Given the description of an element on the screen output the (x, y) to click on. 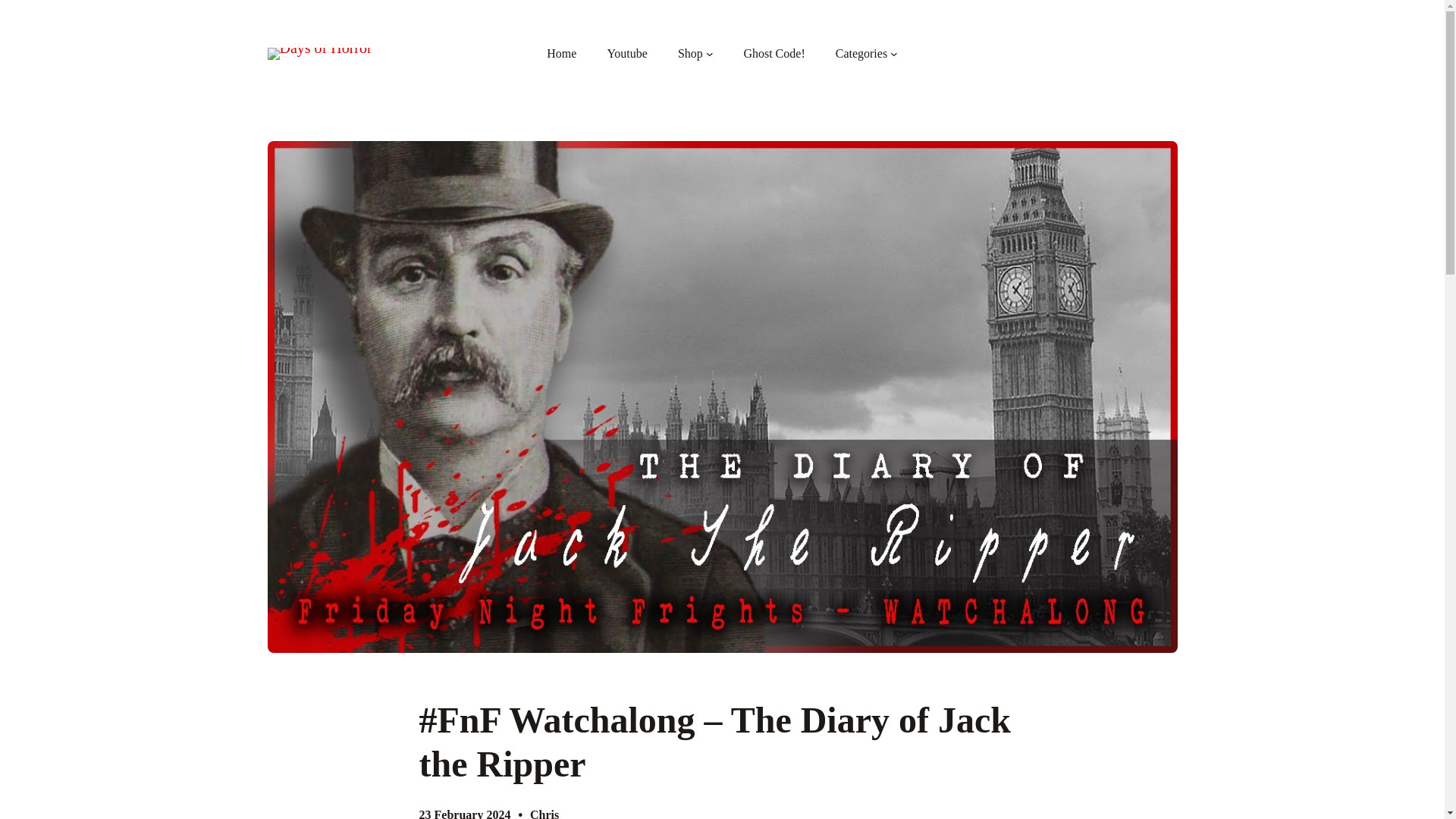
Home (561, 53)
Categories (860, 53)
Ghost Code! (773, 53)
Chris (544, 813)
Shop (690, 53)
Youtube (627, 53)
